Given the description of an element on the screen output the (x, y) to click on. 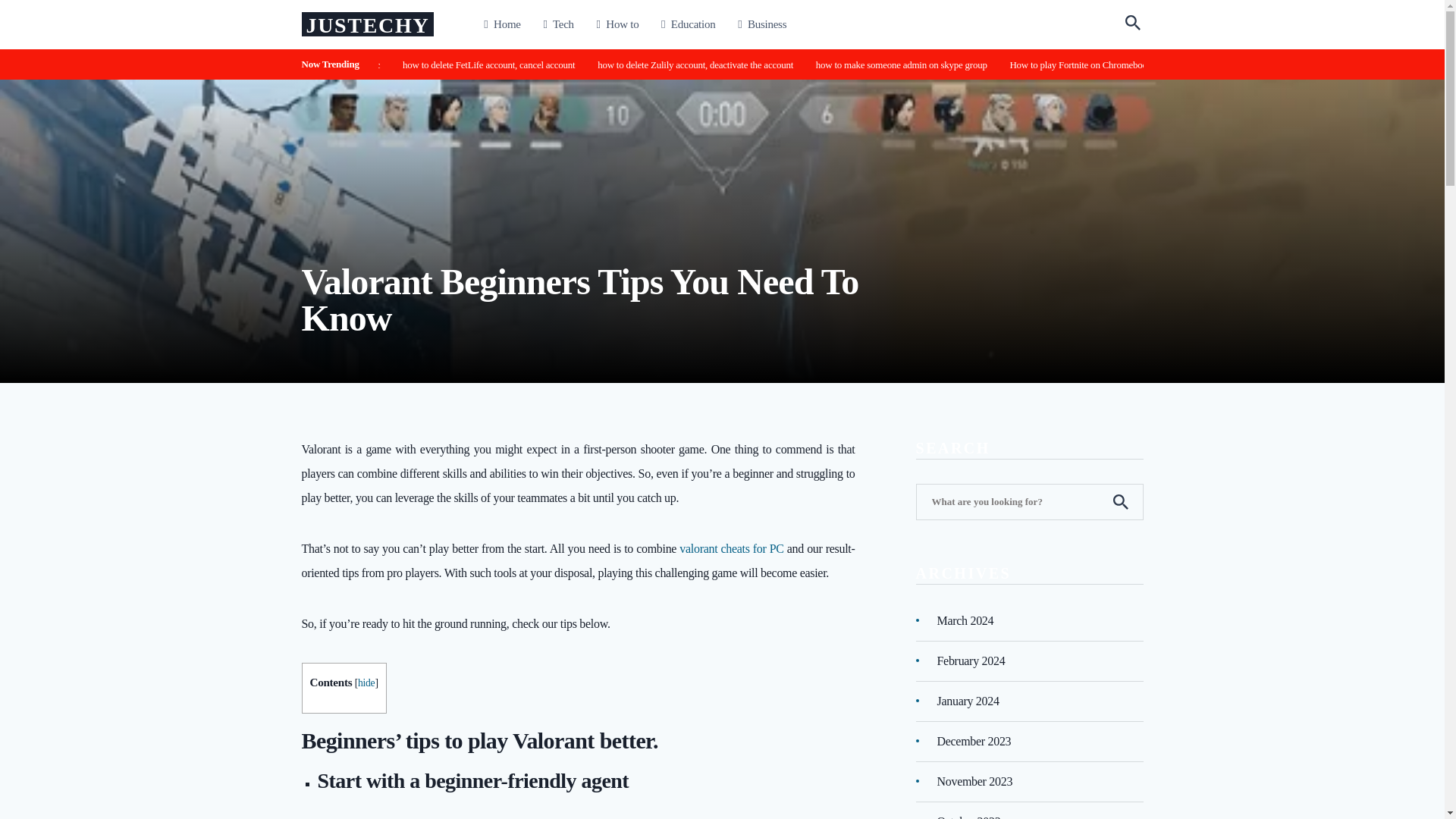
How to play Fortnite on Chromebook in 2022 (1186, 64)
how to make someone admin on skype group (1035, 64)
December 2023 (974, 739)
JUSTECHY (367, 24)
November 2023 (975, 780)
hide (366, 681)
how to delete Zulily account, deactivate the account (788, 64)
How to Log Out of Telegram on a PC or Mac (431, 64)
valorant cheats for PC (731, 547)
Education (687, 24)
January 2024 (967, 700)
how to delete FetLife account, cancel account (624, 64)
February 2024 (971, 659)
How to Log Out of Telegram on a PC or Mac (391, 64)
how to delete FetLife account, cancel account (583, 64)
